Given the description of an element on the screen output the (x, y) to click on. 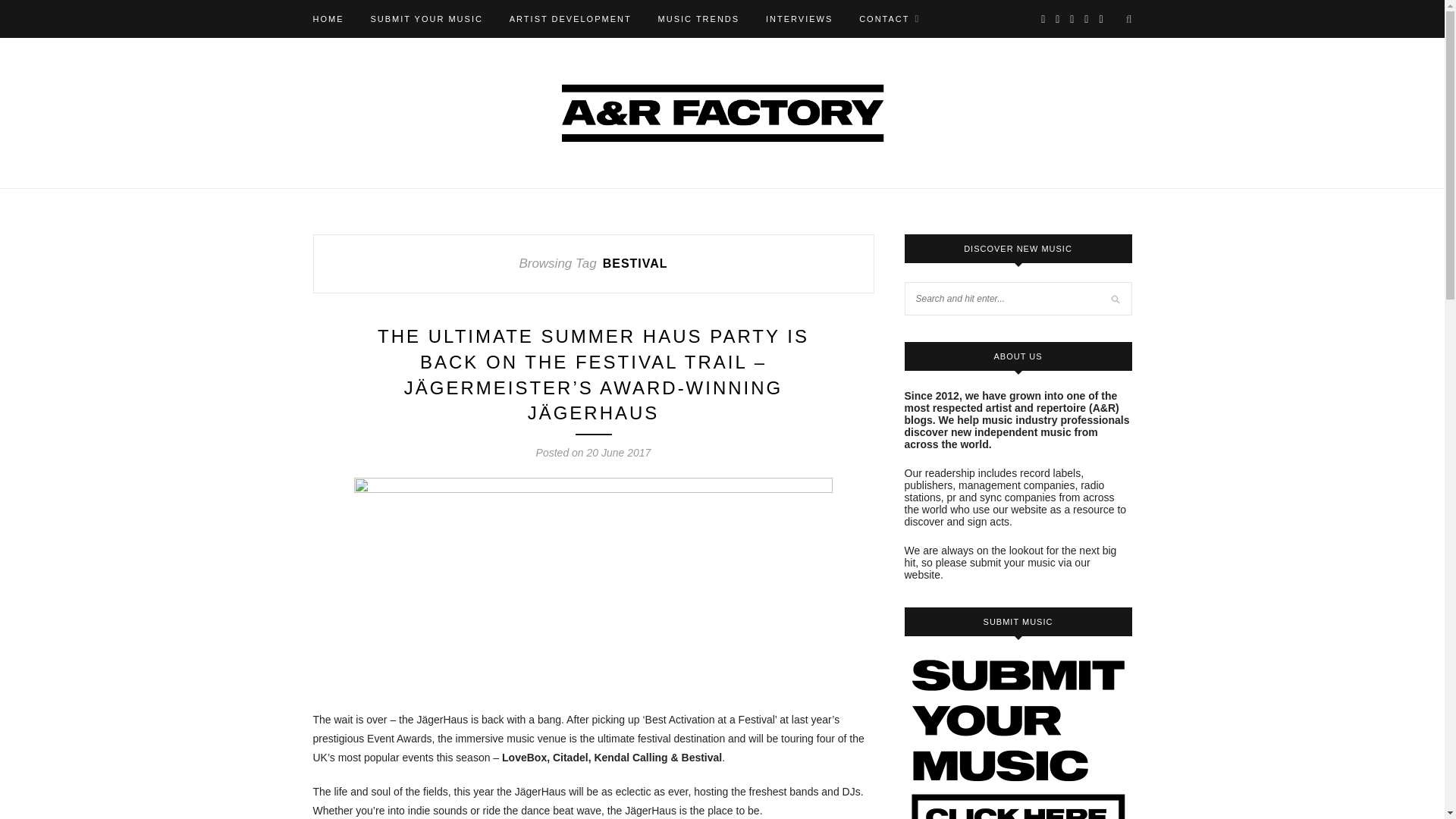
INTERVIEWS (798, 18)
ARTIST DEVELOPMENT (570, 18)
SUBMIT YOUR MUSIC (426, 18)
CONTACT (889, 18)
MUSIC TRENDS (698, 18)
